Given the description of an element on the screen output the (x, y) to click on. 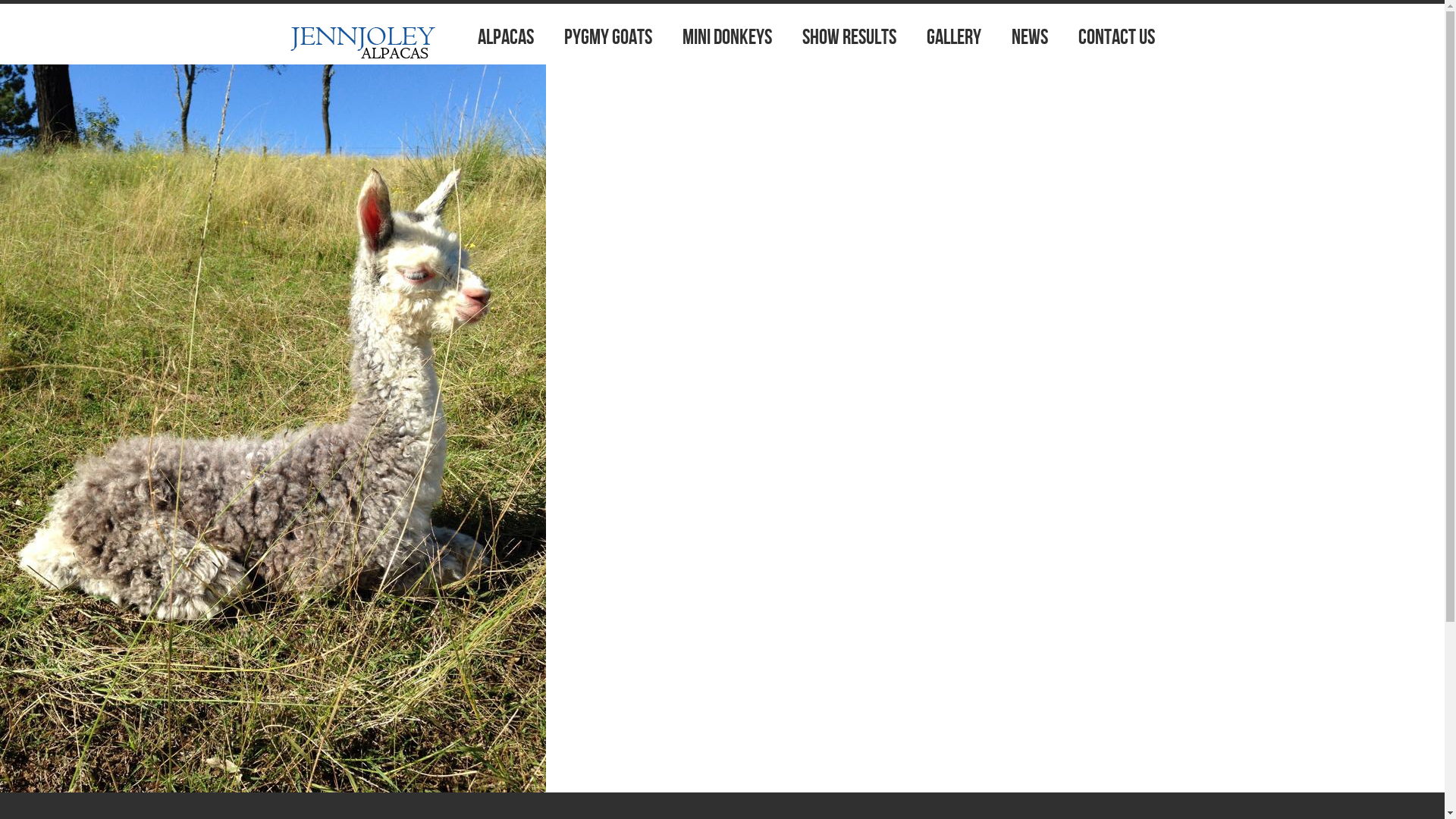
NEWS Element type: text (1029, 37)
PYGMY GOATS Element type: text (608, 37)
CONTACT US Element type: text (1116, 37)
MINI DONKEYS Element type: text (726, 37)
ALPACAS Element type: text (505, 37)
SHOW RESULTS Element type: text (849, 37)
GALLERY Element type: text (953, 37)
